Given the description of an element on the screen output the (x, y) to click on. 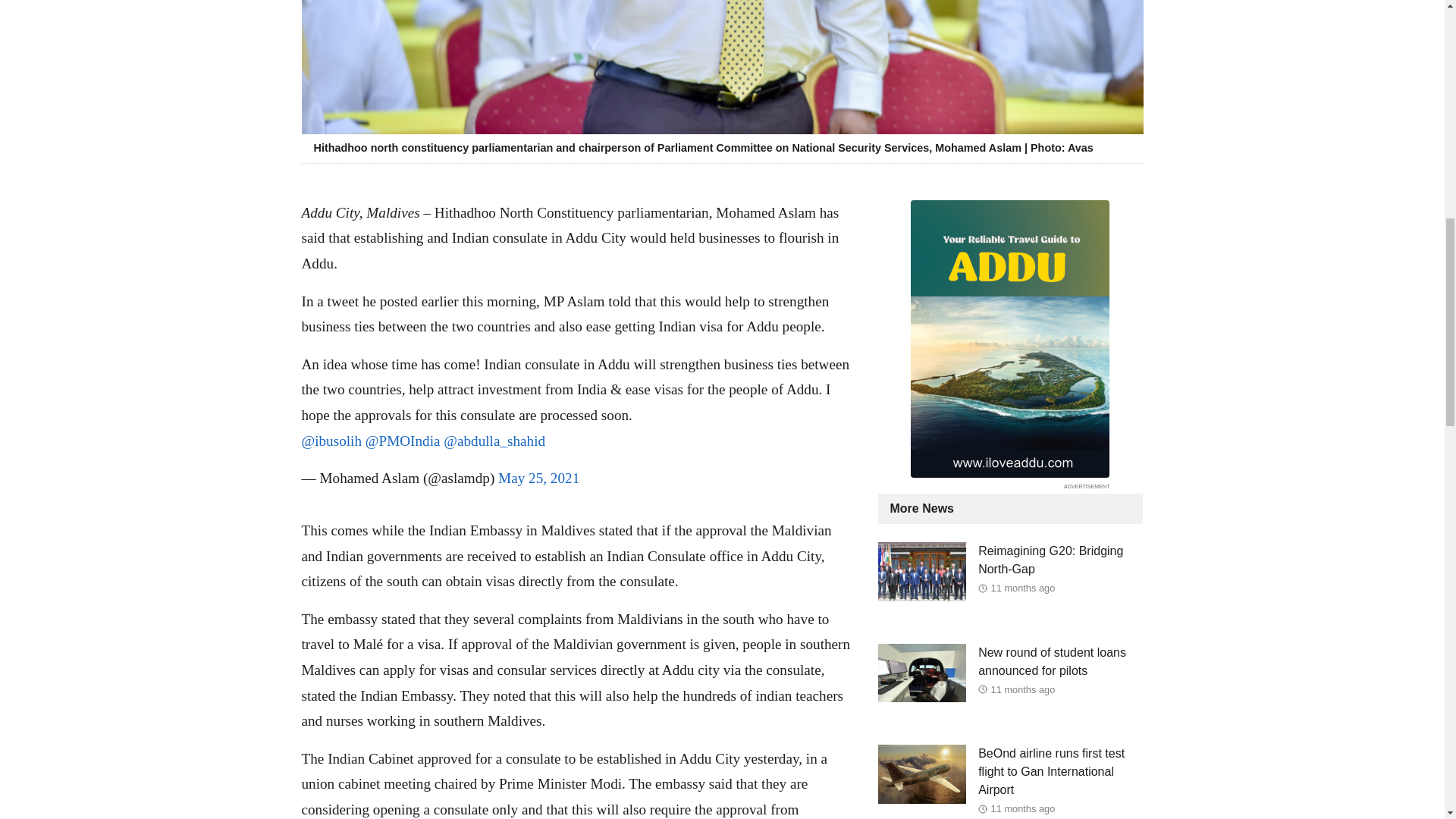
Aug 15, 2023, 19:26 (1023, 587)
Aug 14, 2023, 18:18 (1023, 689)
Aug 14, 2023, 18:11 (1023, 808)
May 25, 2021 (538, 478)
